Given the description of an element on the screen output the (x, y) to click on. 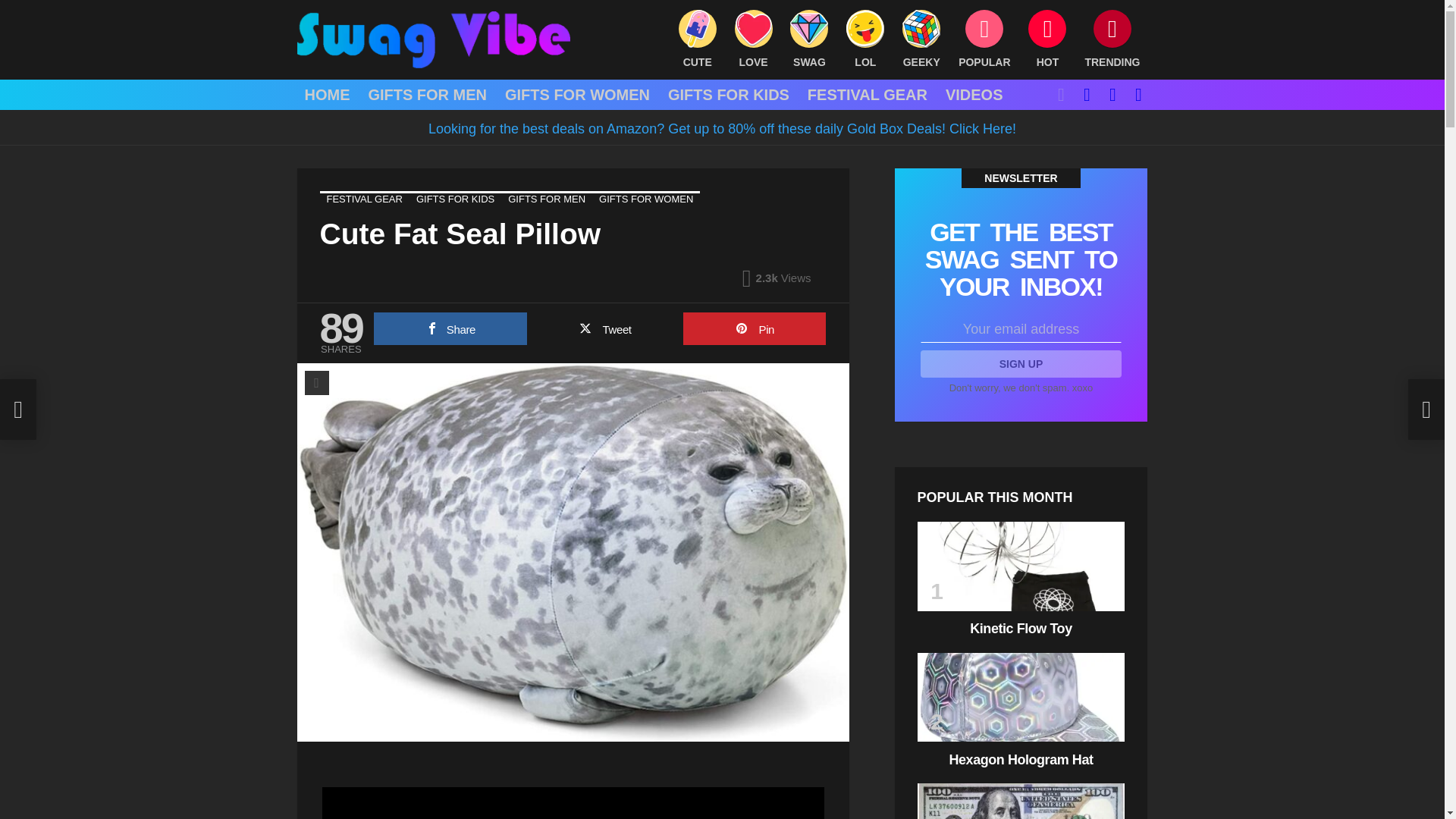
GIFTS FOR WOMEN (577, 94)
Sign up (1021, 363)
LOVE (753, 38)
LOL (864, 38)
POPULAR (983, 38)
GIFTS FOR MEN (427, 94)
HOME (327, 94)
VIDEOS (973, 94)
GIFTS FOR KIDS (728, 94)
TRENDING (1112, 38)
FESTIVAL GEAR (866, 94)
SWAG (809, 38)
HOT (1047, 38)
GEEKY (921, 38)
CUTE (697, 38)
